Given the description of an element on the screen output the (x, y) to click on. 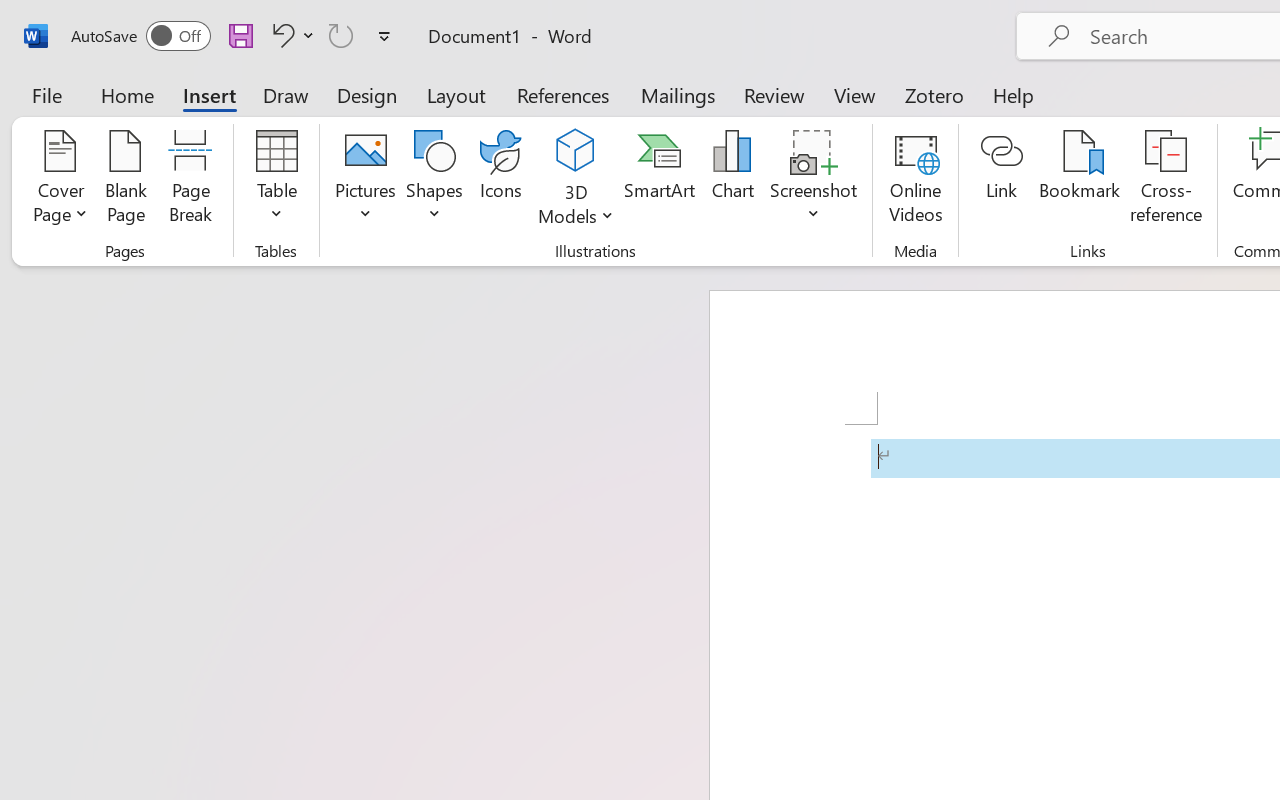
Cover Page (60, 179)
Shapes (435, 179)
Chart... (732, 179)
Cross-reference... (1165, 179)
Page Break (190, 179)
